Given the description of an element on the screen output the (x, y) to click on. 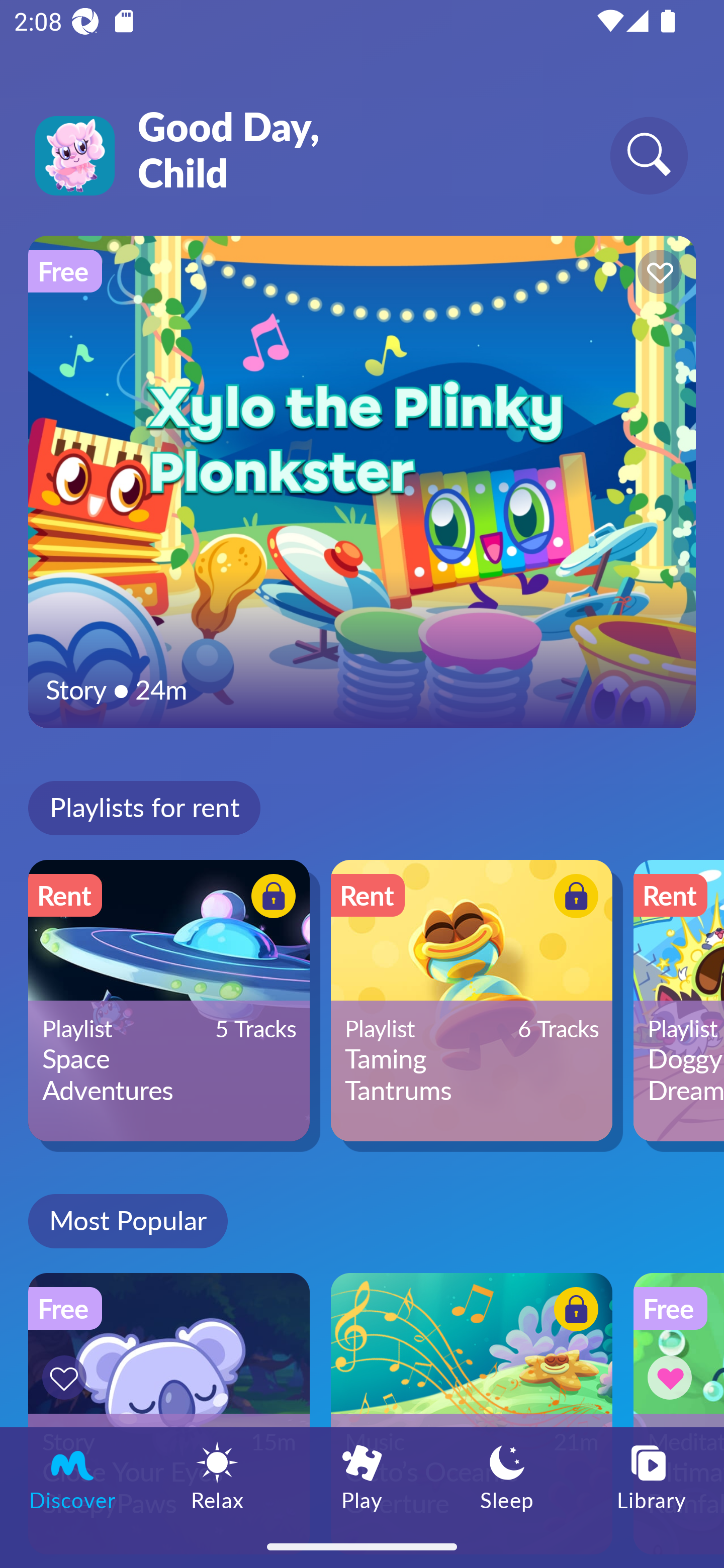
Search (648, 154)
Featured Content Free Button Story ● 24m (361, 481)
Button (656, 274)
Button (269, 898)
Button (573, 898)
Button (573, 1312)
Button (67, 1377)
Button (672, 1377)
Relax (216, 1475)
Play (361, 1475)
Sleep (506, 1475)
Library (651, 1475)
